Given the description of an element on the screen output the (x, y) to click on. 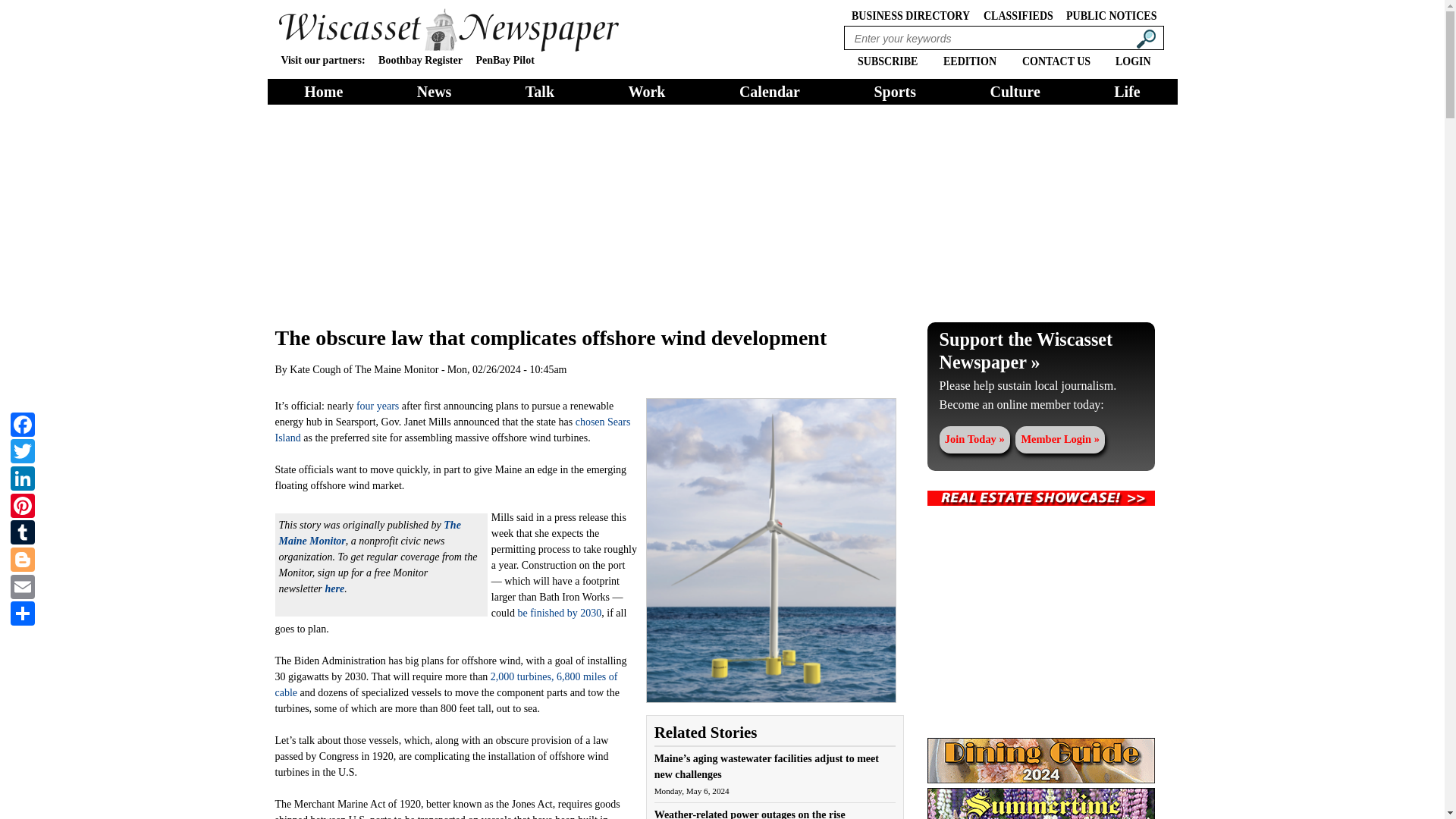
Create Account (974, 439)
BUSINESS DIRECTORY (910, 13)
CLASSIFIEDS (1018, 13)
Status (1040, 371)
3rd party ad content (1040, 621)
CONTACT US (1056, 59)
Work (646, 91)
PenBay Pilot (505, 60)
Life (1126, 91)
Boothbay Register (420, 60)
Talk (540, 91)
Calendar (770, 91)
Pinterest (22, 503)
